Given the description of an element on the screen output the (x, y) to click on. 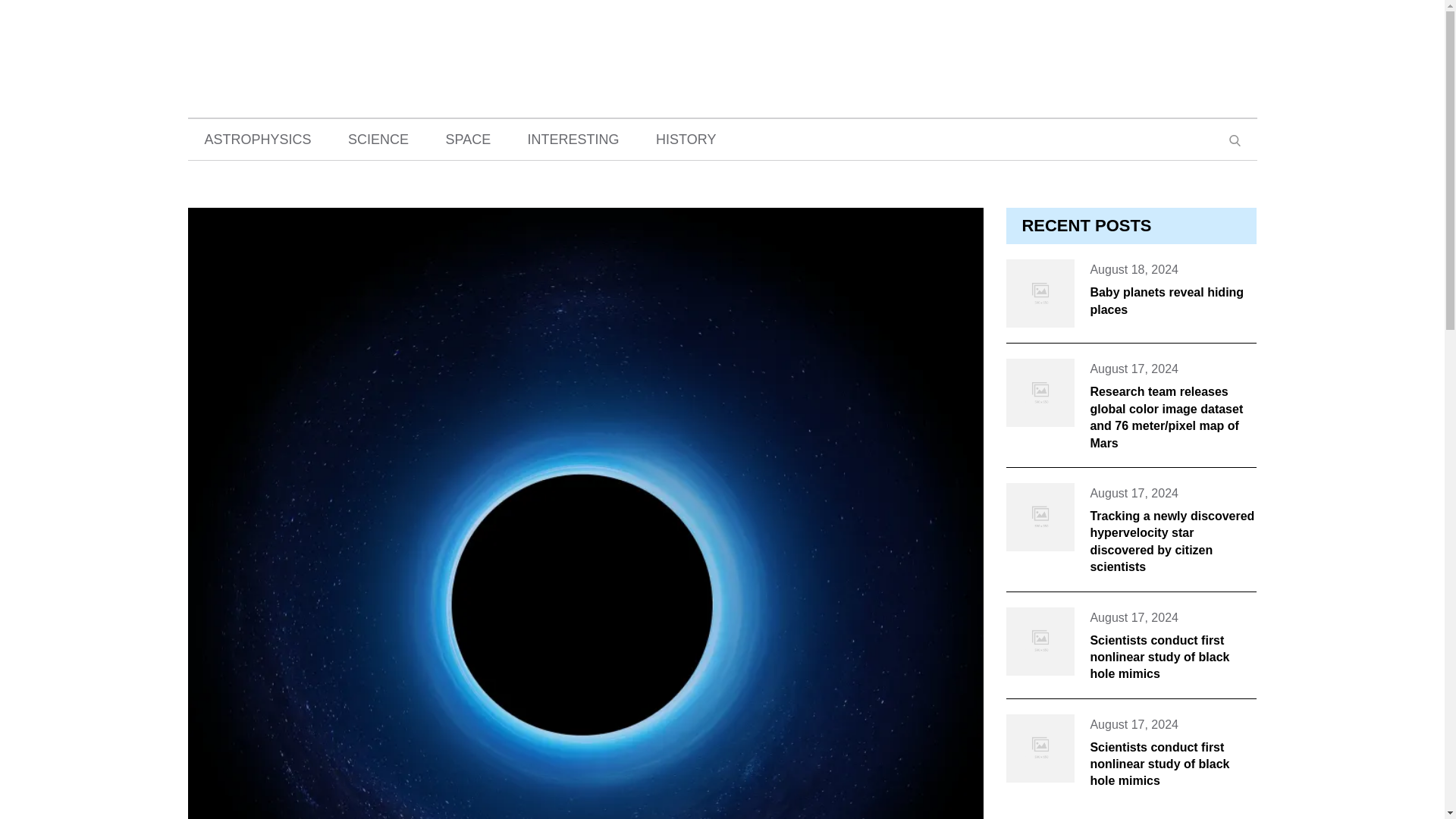
August 17, 2024 (1133, 724)
MESON STARS (722, 49)
August 18, 2024 (1133, 269)
August 17, 2024 (1133, 369)
Baby planets reveal hiding places (1166, 300)
SCIENCE (378, 138)
HISTORY (685, 138)
